Given the description of an element on the screen output the (x, y) to click on. 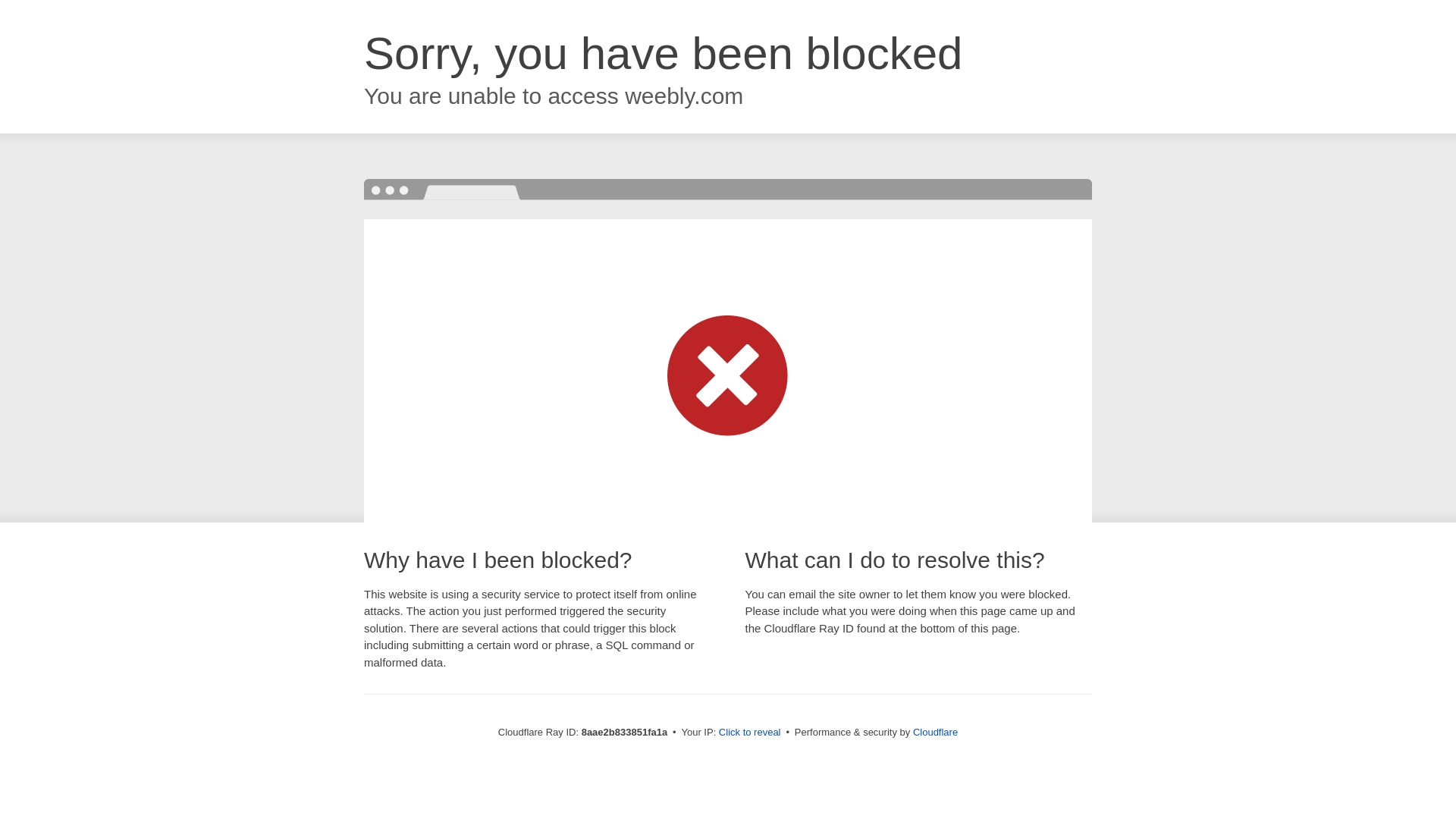
Cloudflare (935, 731)
Click to reveal (749, 732)
